Given the description of an element on the screen output the (x, y) to click on. 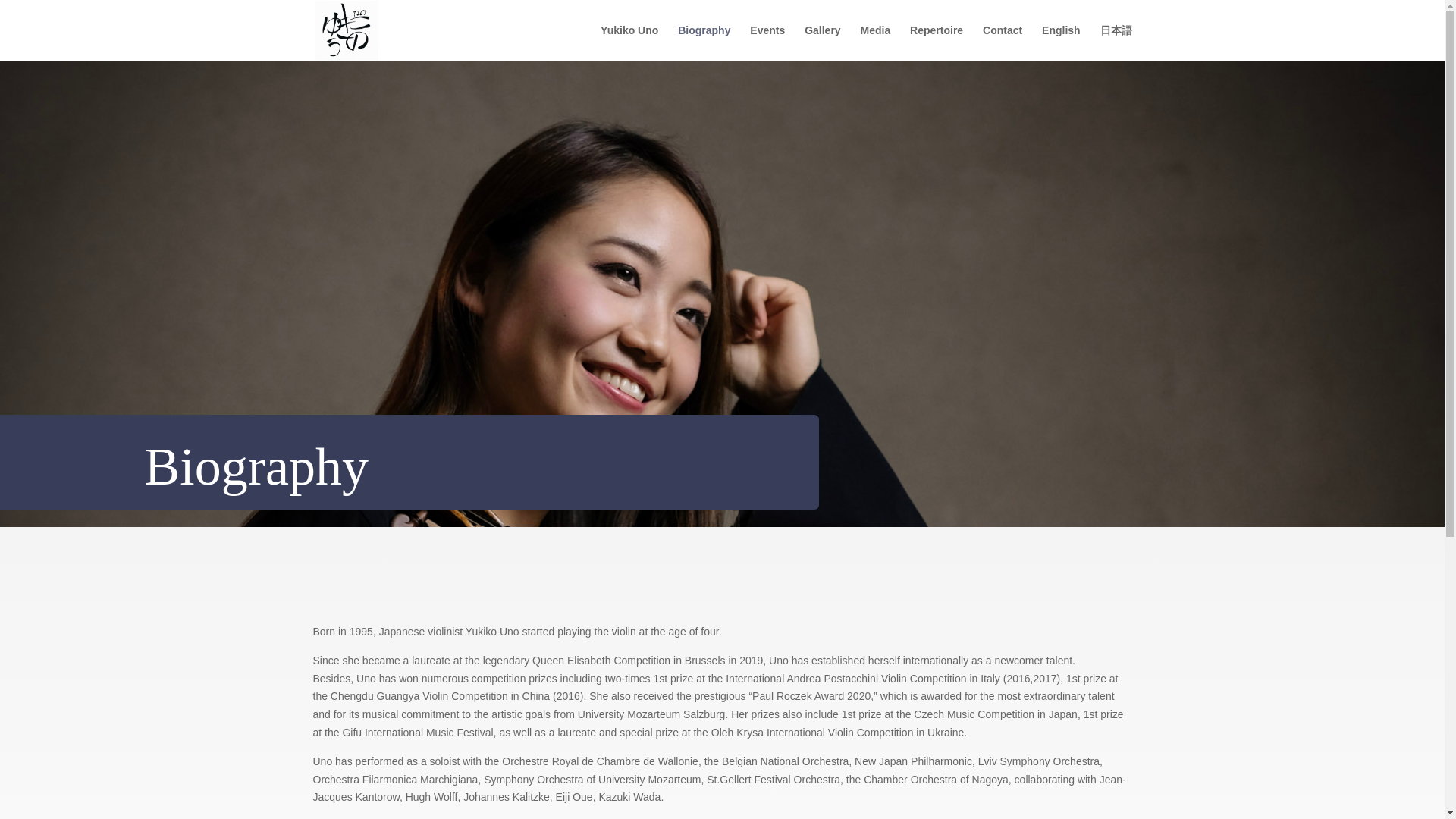
Repertoire (936, 42)
Yukiko Uno (628, 42)
Gallery (822, 42)
English (1061, 42)
Contact (1002, 42)
Events (766, 42)
Biography (704, 42)
